Given the description of an element on the screen output the (x, y) to click on. 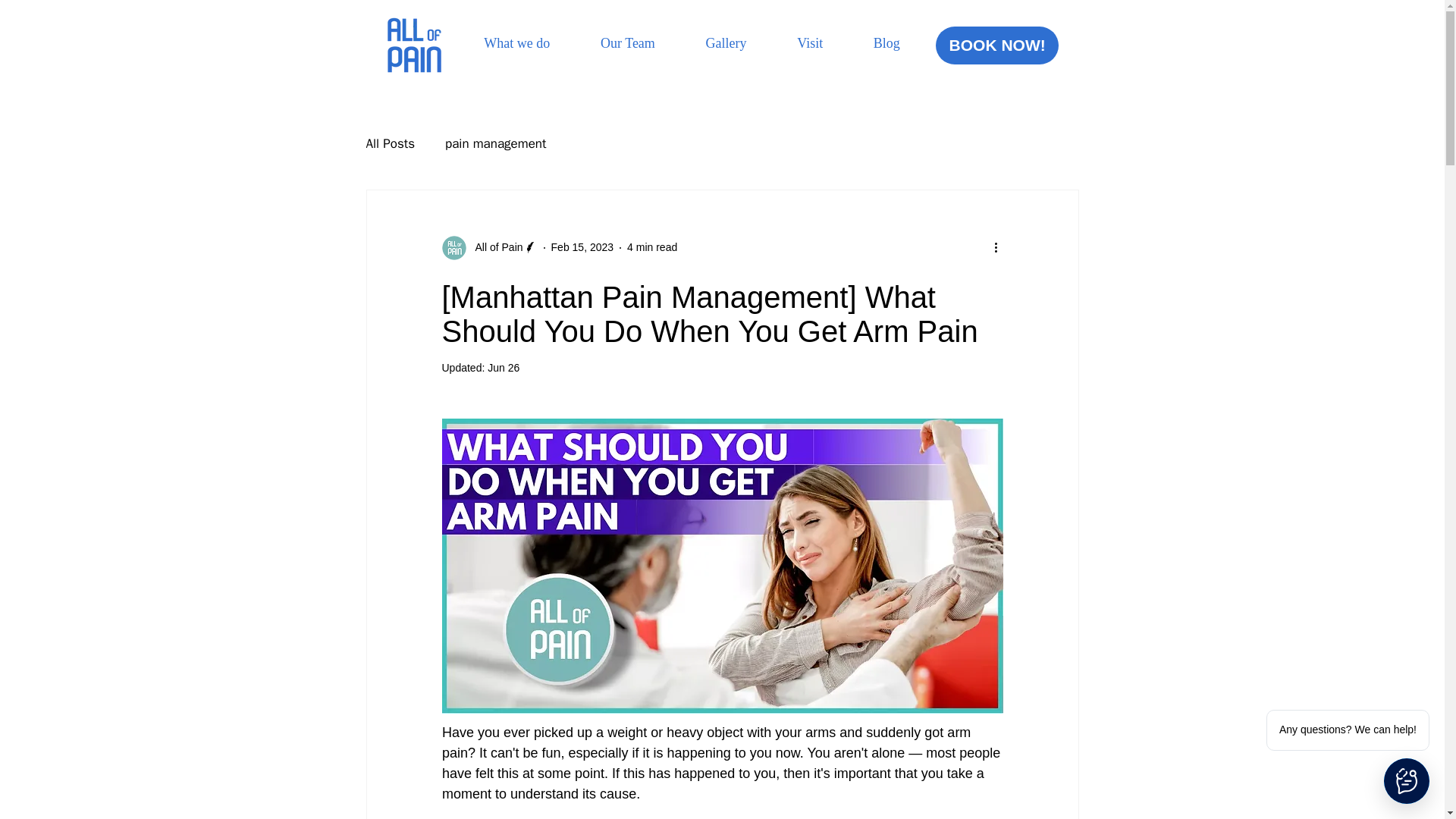
All of Pain (493, 247)
Visit (809, 42)
pain management (495, 143)
Jun 26 (503, 367)
Feb 15, 2023 (582, 246)
What we do (516, 42)
All Posts (389, 143)
BOOK NOW! (691, 42)
Our Team (997, 45)
4 min read (628, 42)
Gallery (652, 246)
Blog (725, 42)
